Given the description of an element on the screen output the (x, y) to click on. 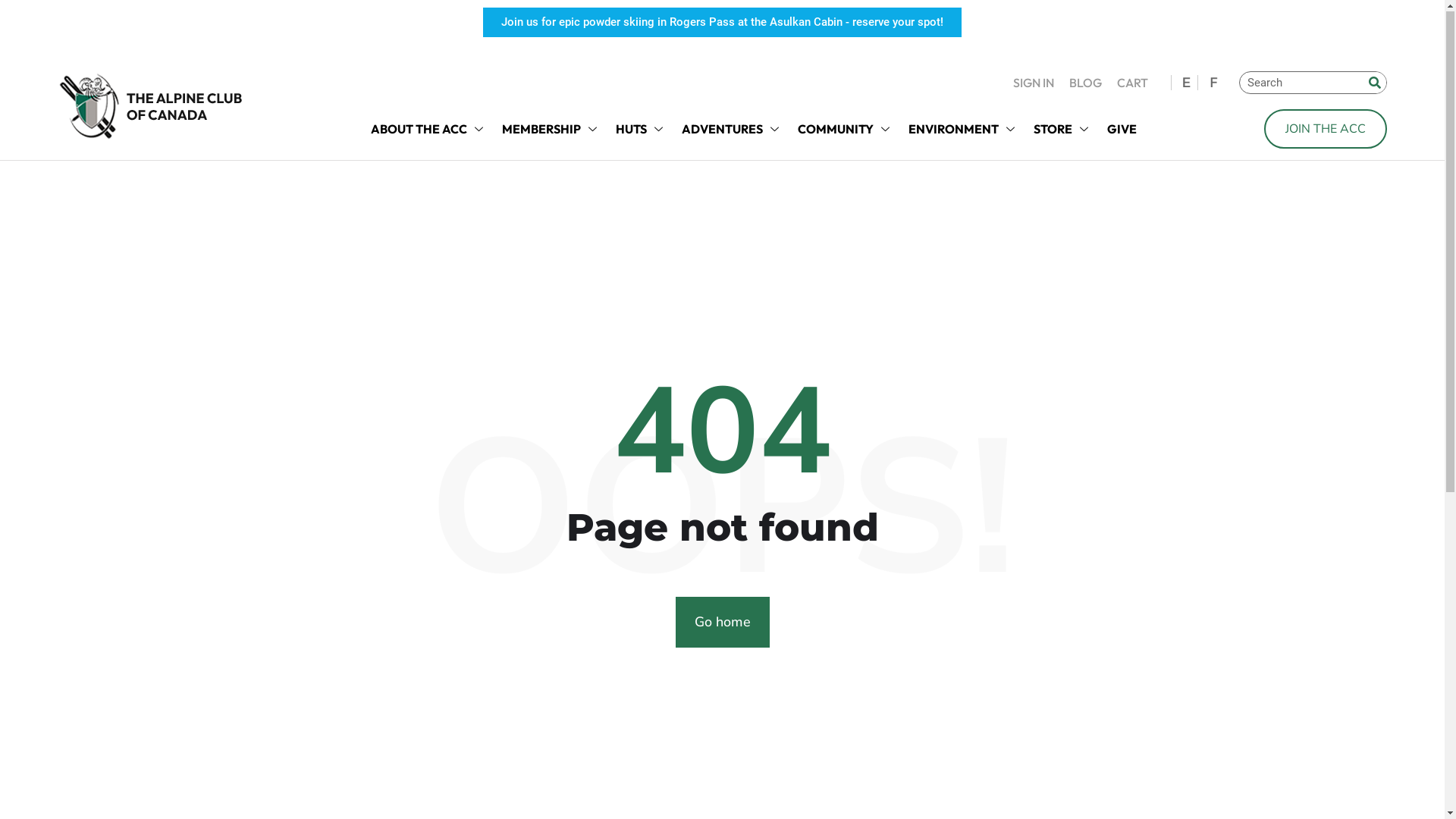
ABOUT THE ACC Element type: text (427, 129)
English Element type: hover (1185, 83)
BLOG Element type: text (1085, 83)
GIVE Element type: text (1121, 129)
SIGN IN Element type: text (1033, 83)
HUTS Element type: text (641, 129)
MEMBERSHIP Element type: text (551, 129)
ENVIRONMENT Element type: text (963, 129)
Go home Element type: text (721, 622)
ADVENTURES Element type: text (731, 129)
STORE Element type: text (1061, 129)
JOIN THE ACC Element type: text (1325, 129)
CART Element type: text (1132, 83)
French Element type: hover (1212, 83)
COMMUNITY Element type: text (845, 129)
